Given the description of an element on the screen output the (x, y) to click on. 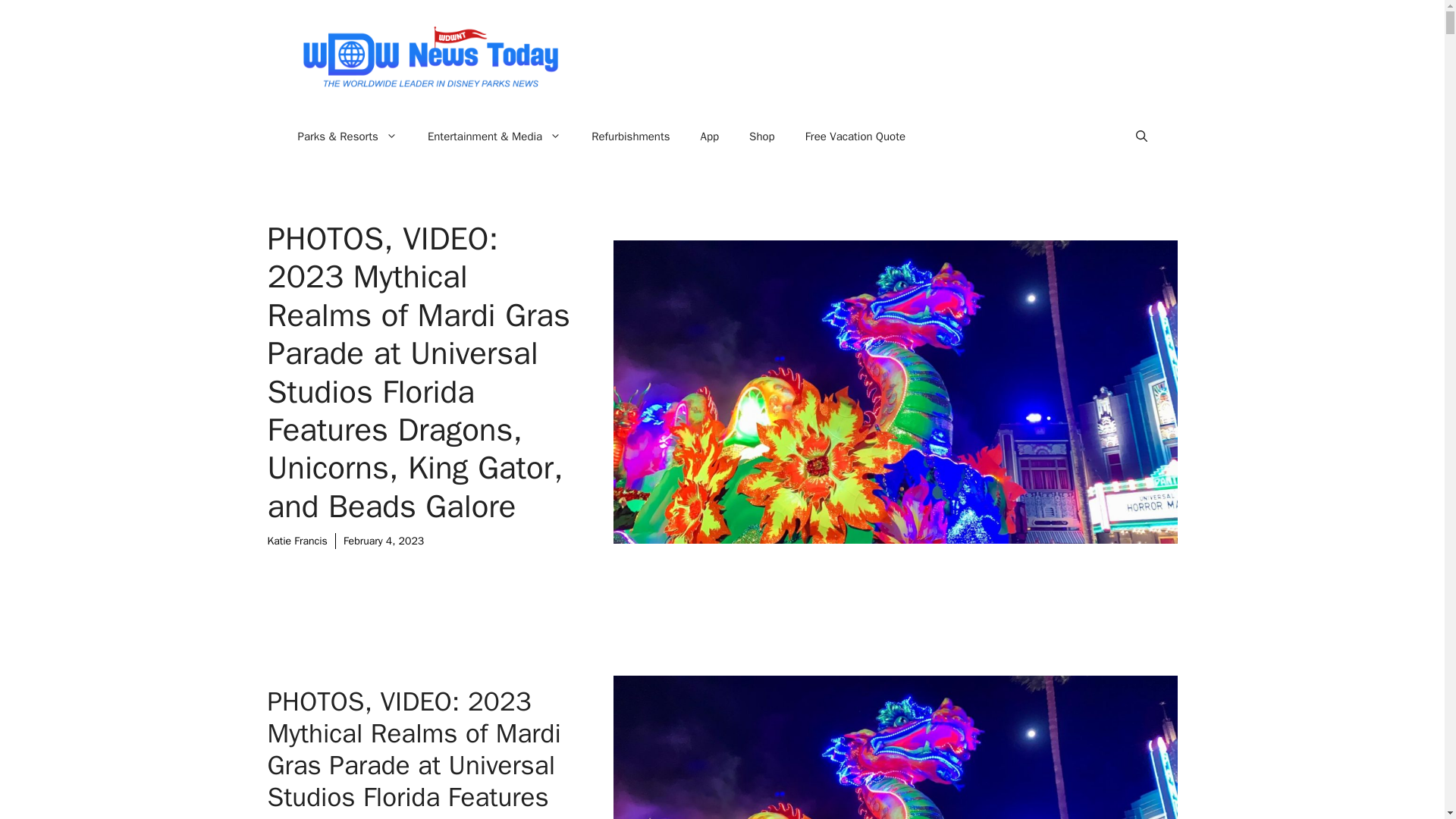
App (710, 135)
Free Vacation Quote (855, 135)
Shop (761, 135)
Refurbishments (630, 135)
